Given the description of an element on the screen output the (x, y) to click on. 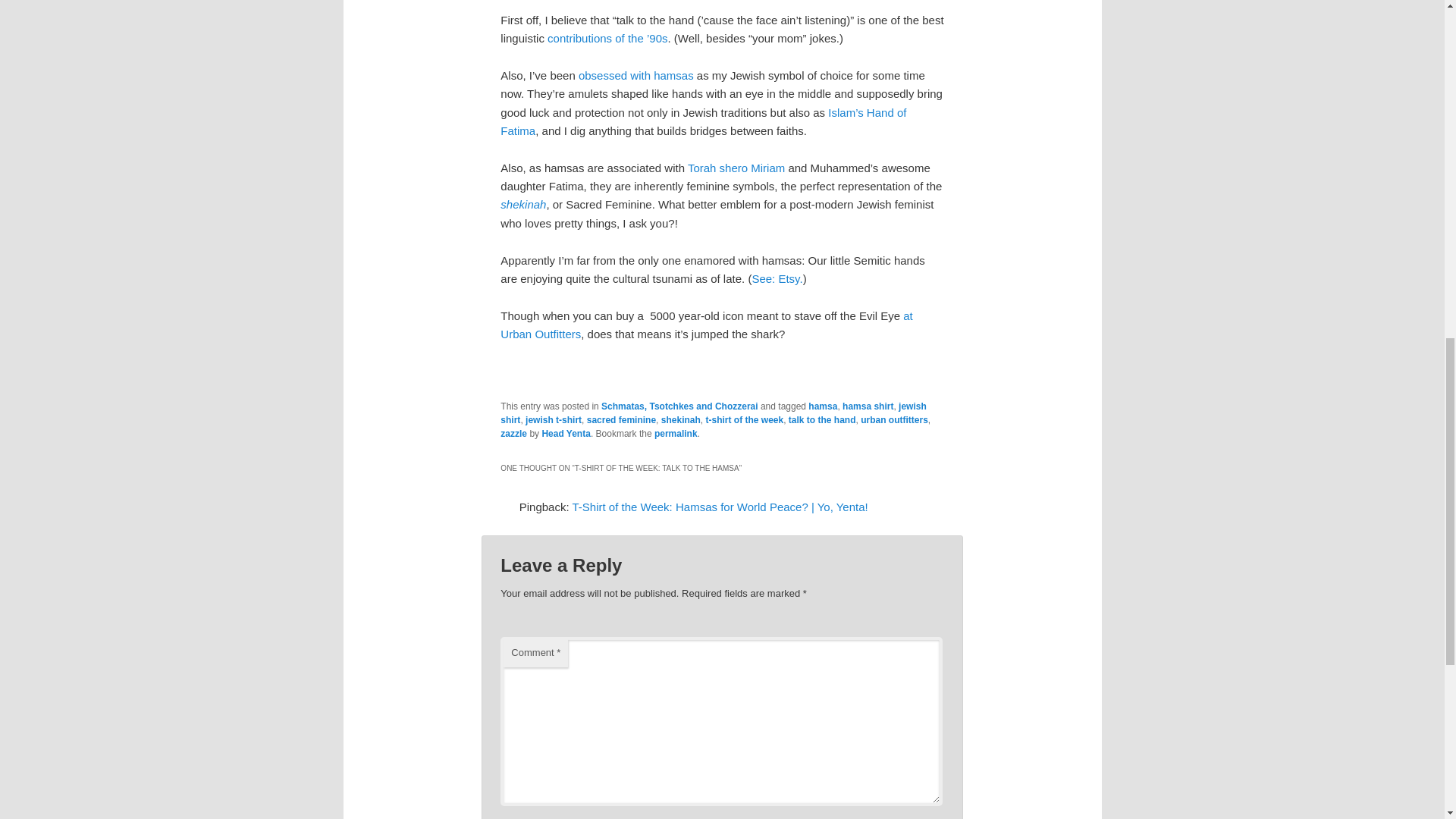
t-shirt of the week (743, 419)
Head Yenta (565, 433)
Torah shero Miriam (735, 167)
Schmatas, Tsotchkes and Chozzerai (679, 406)
Permalink to T-Shirt of the Week: Talk to the Hamsa (675, 433)
urban outfitters (894, 419)
jewish shirt (713, 413)
zazzle (513, 433)
jewish t-shirt (552, 419)
sacred feminine (621, 419)
